Given the description of an element on the screen output the (x, y) to click on. 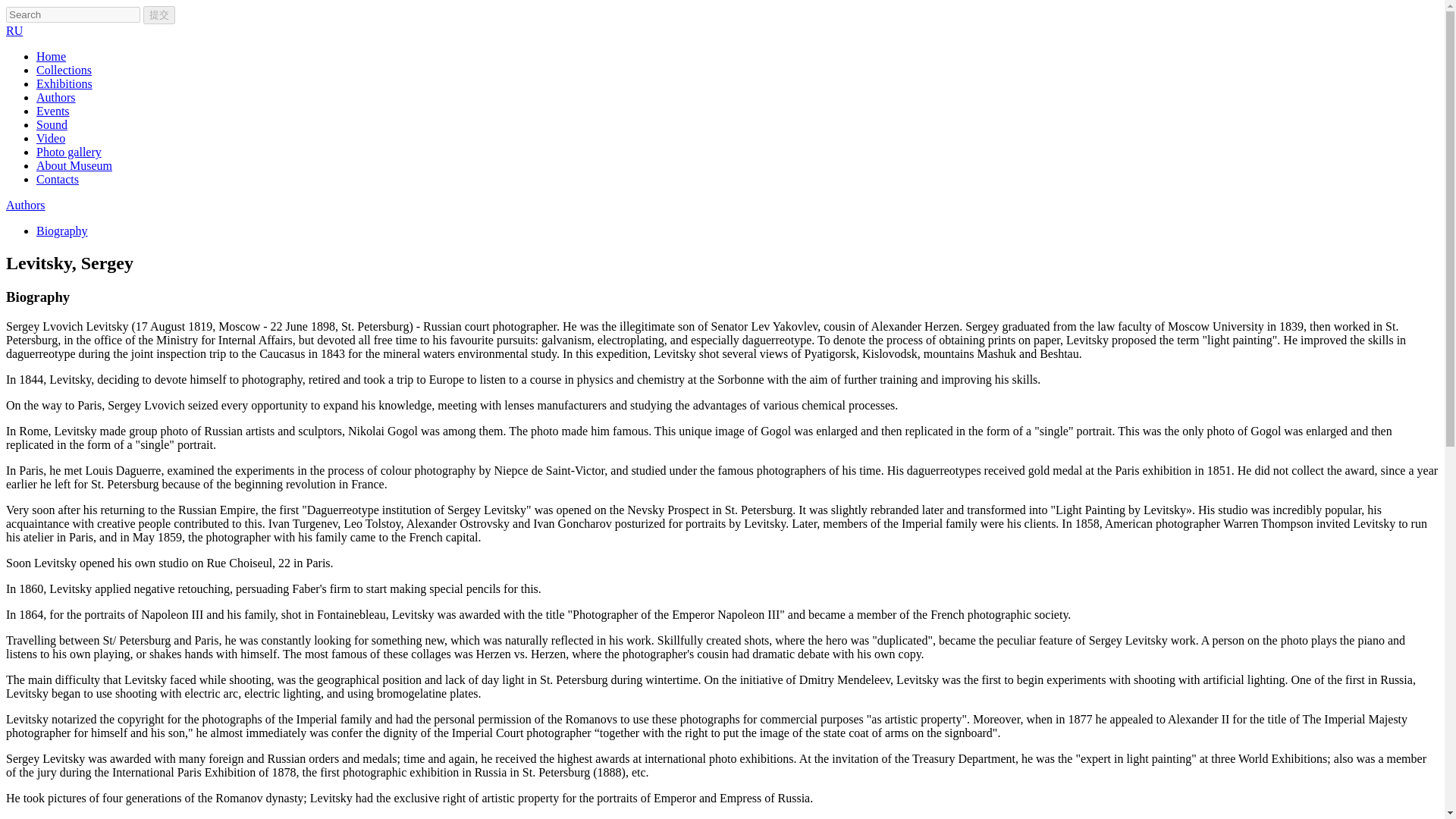
RU (14, 30)
Authors (55, 97)
About Museum (74, 164)
Video (50, 137)
Photo gallery (68, 151)
Exhibitions (64, 83)
Contacts (57, 178)
Events (52, 110)
Biography (61, 230)
Authors (25, 205)
Collections (63, 69)
Home (50, 56)
Sound (51, 124)
